Given the description of an element on the screen output the (x, y) to click on. 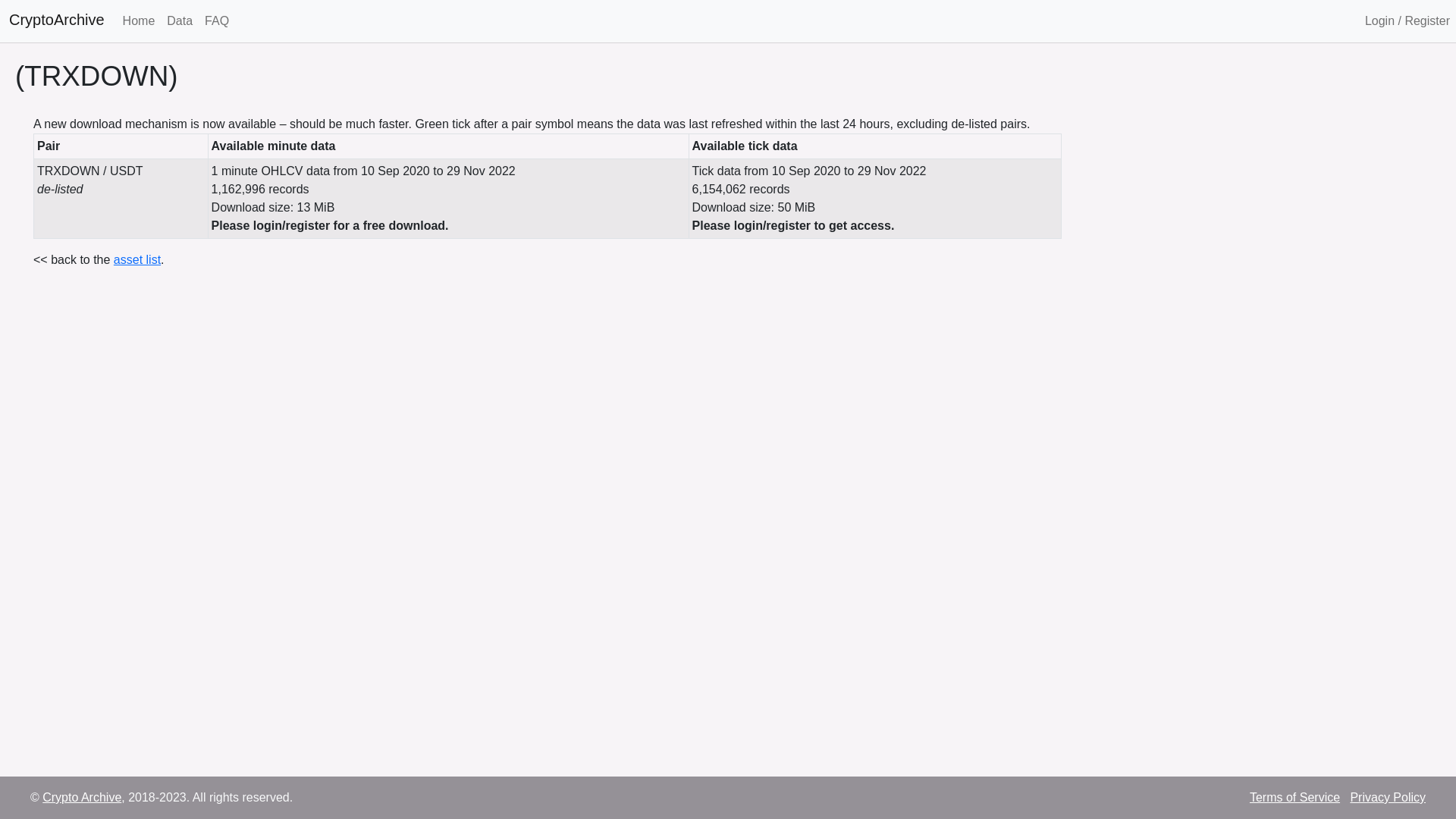
FAQ Element type: text (216, 21)
Data Element type: text (179, 21)
Home Element type: text (138, 21)
Crypto Archive Element type: text (81, 796)
Terms of Service Element type: text (1294, 796)
Privacy Policy Element type: text (1387, 796)
asset list Element type: text (136, 259)
